Given the description of an element on the screen output the (x, y) to click on. 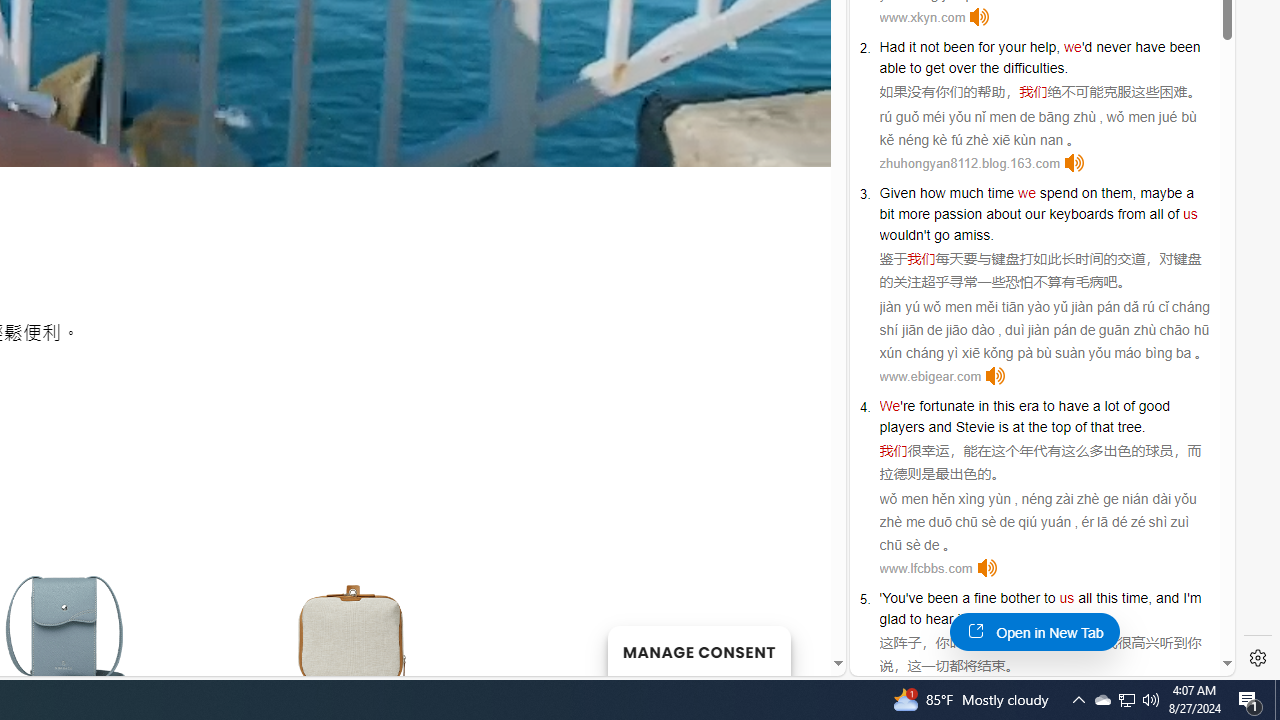
about (1003, 213)
on (1089, 192)
and (940, 426)
We (890, 405)
fortunate (947, 405)
all (1085, 597)
. (1060, 619)
'm (1193, 597)
